Given the description of an element on the screen output the (x, y) to click on. 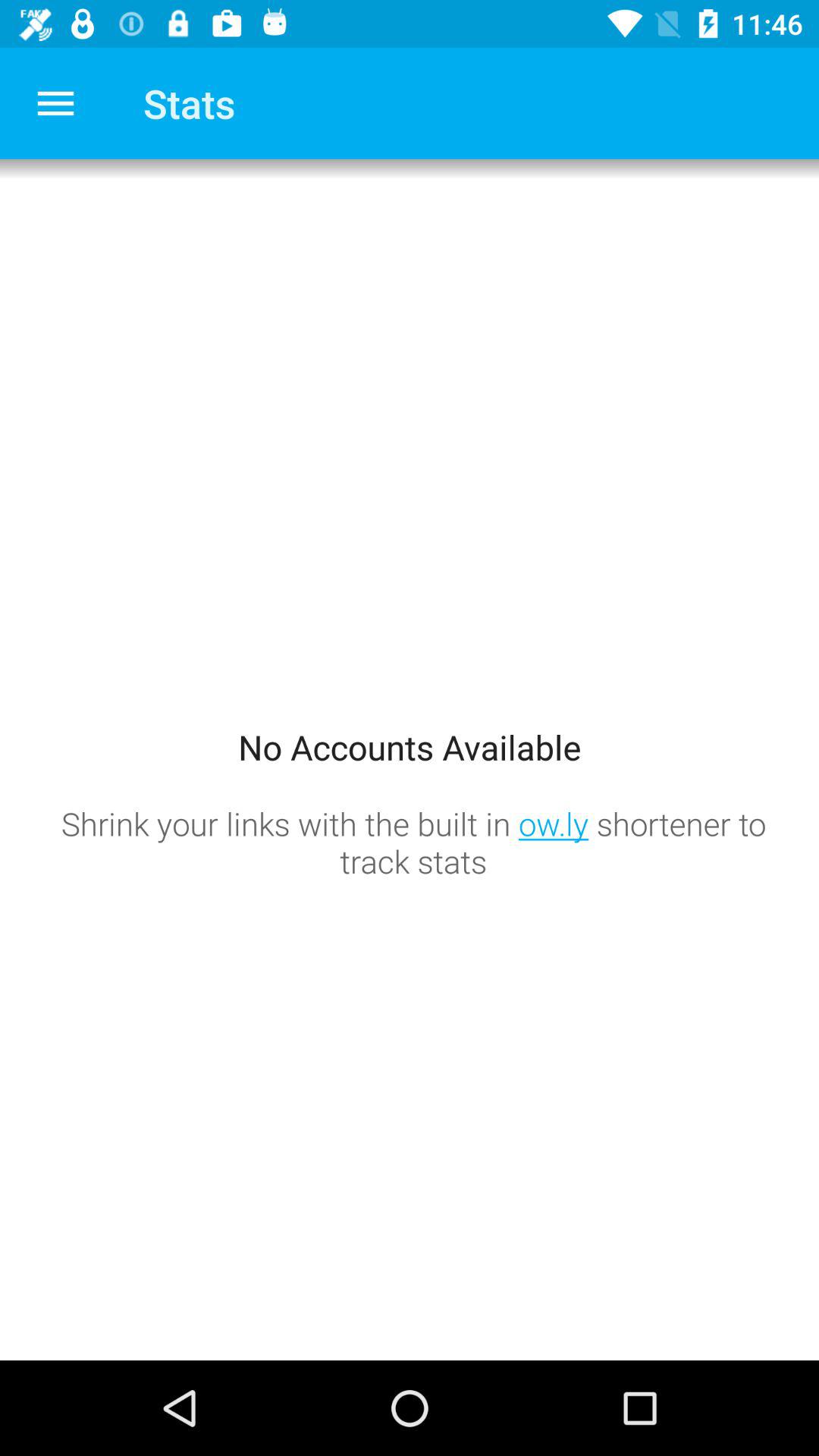
open the item to the left of the stats (55, 103)
